Given the description of an element on the screen output the (x, y) to click on. 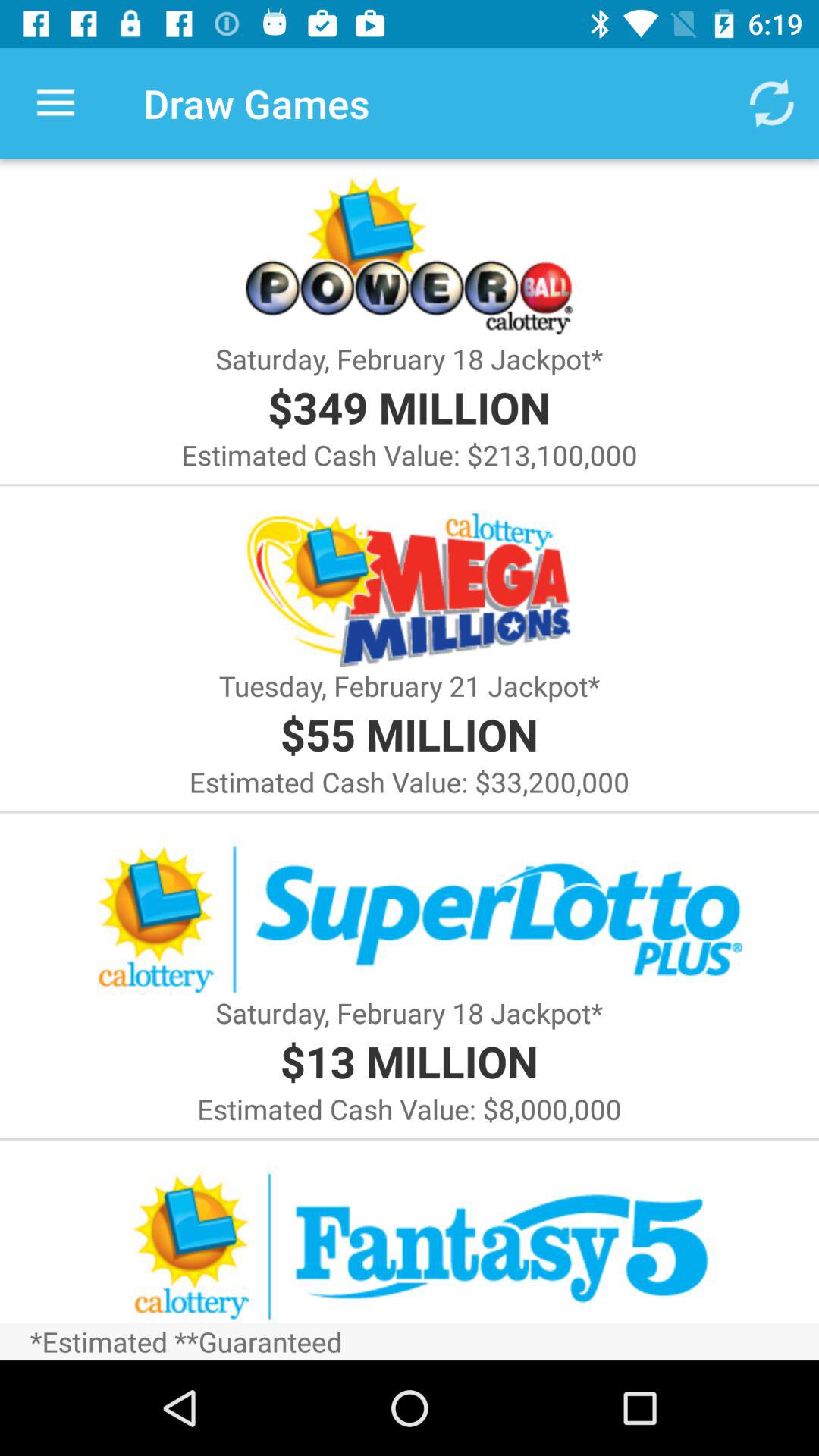
flip until the $13 million icon (409, 1060)
